Given the description of an element on the screen output the (x, y) to click on. 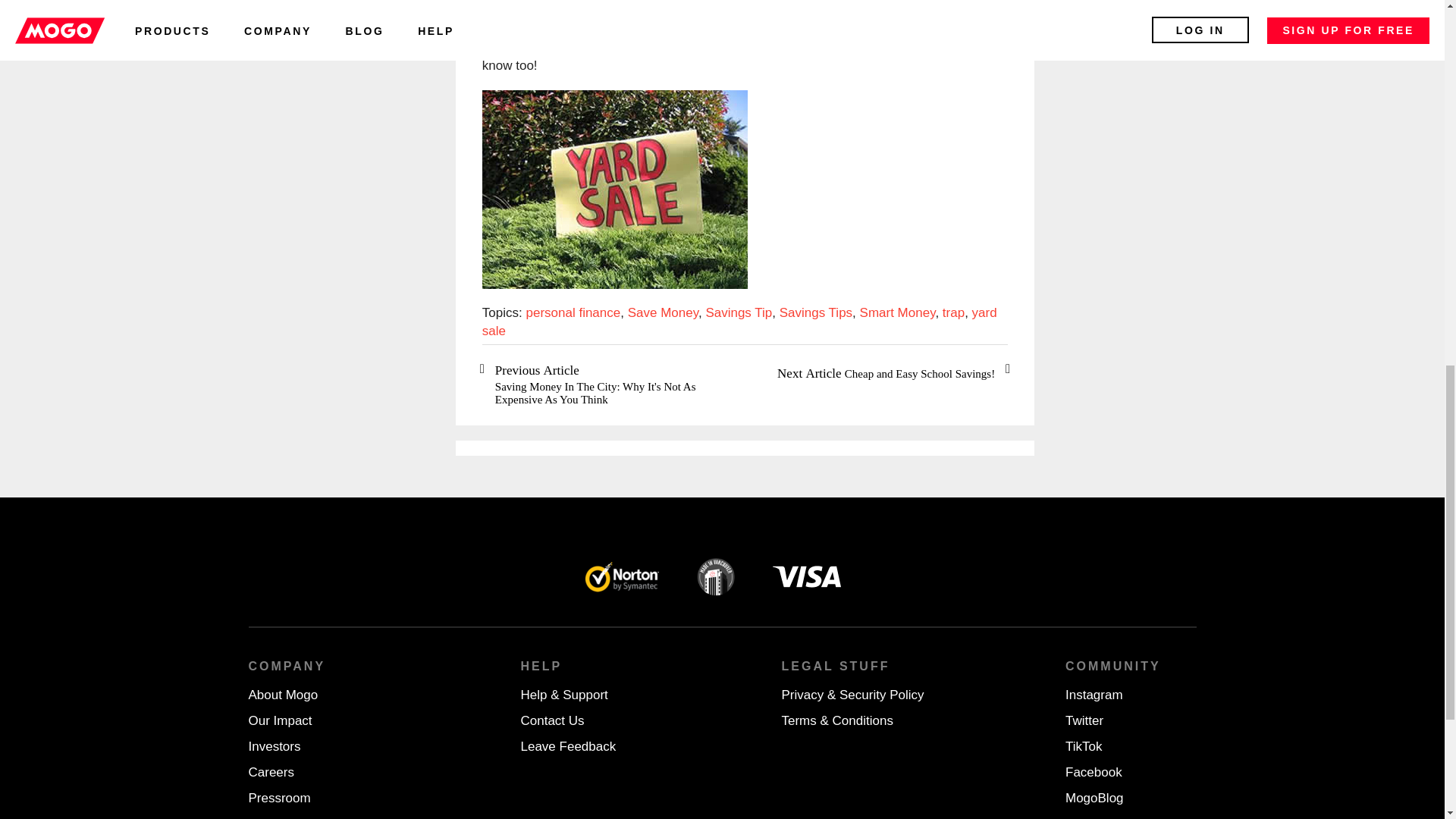
yardsalesign (614, 189)
